Given the description of an element on the screen output the (x, y) to click on. 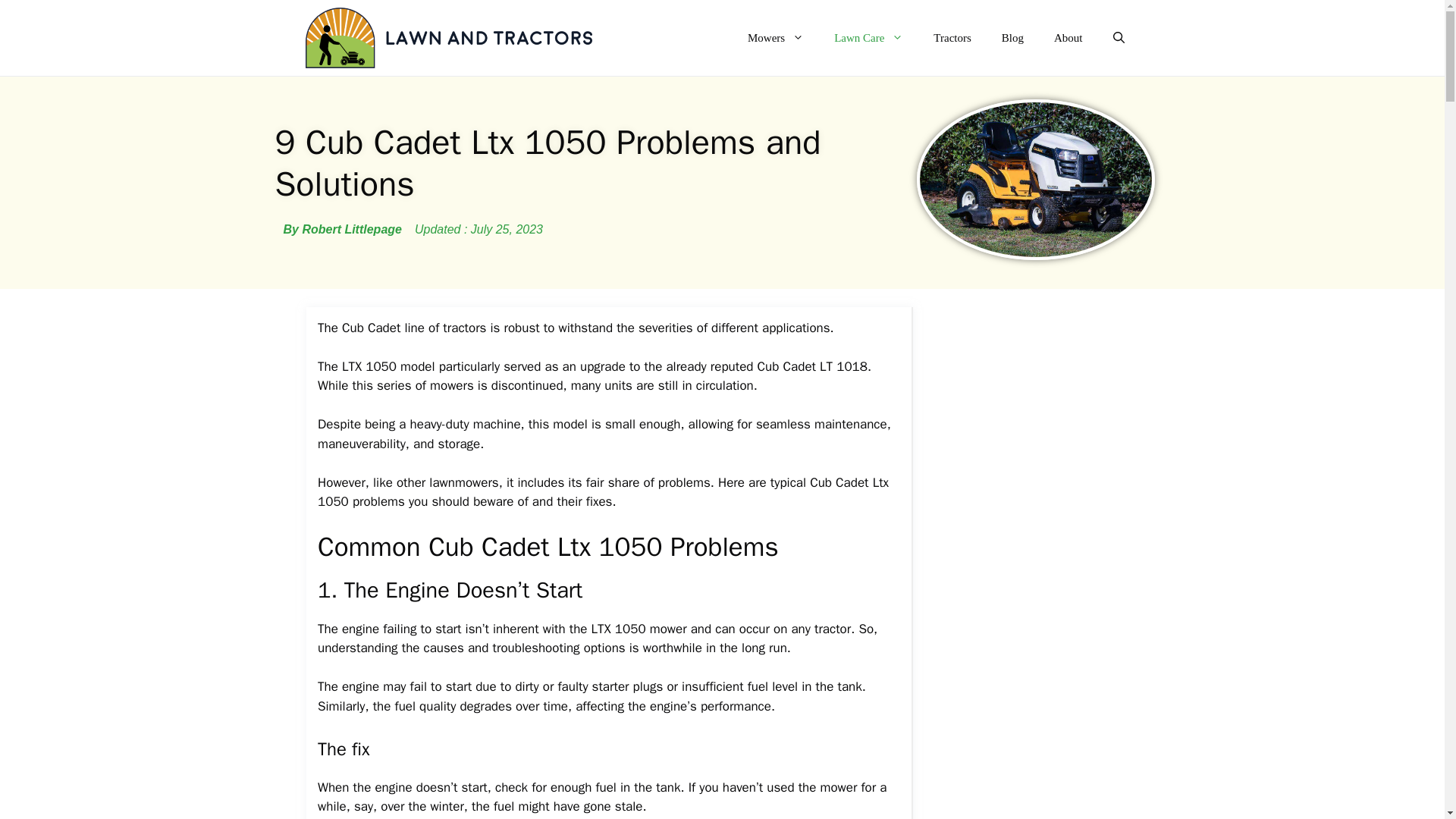
Blog (1013, 37)
About (1068, 37)
Mower On the Lawn (447, 38)
Robert Littlepage (342, 228)
Mowers (775, 37)
By Robert Littlepage (342, 228)
Lawn Care (868, 37)
Tractors (951, 37)
